Given the description of an element on the screen output the (x, y) to click on. 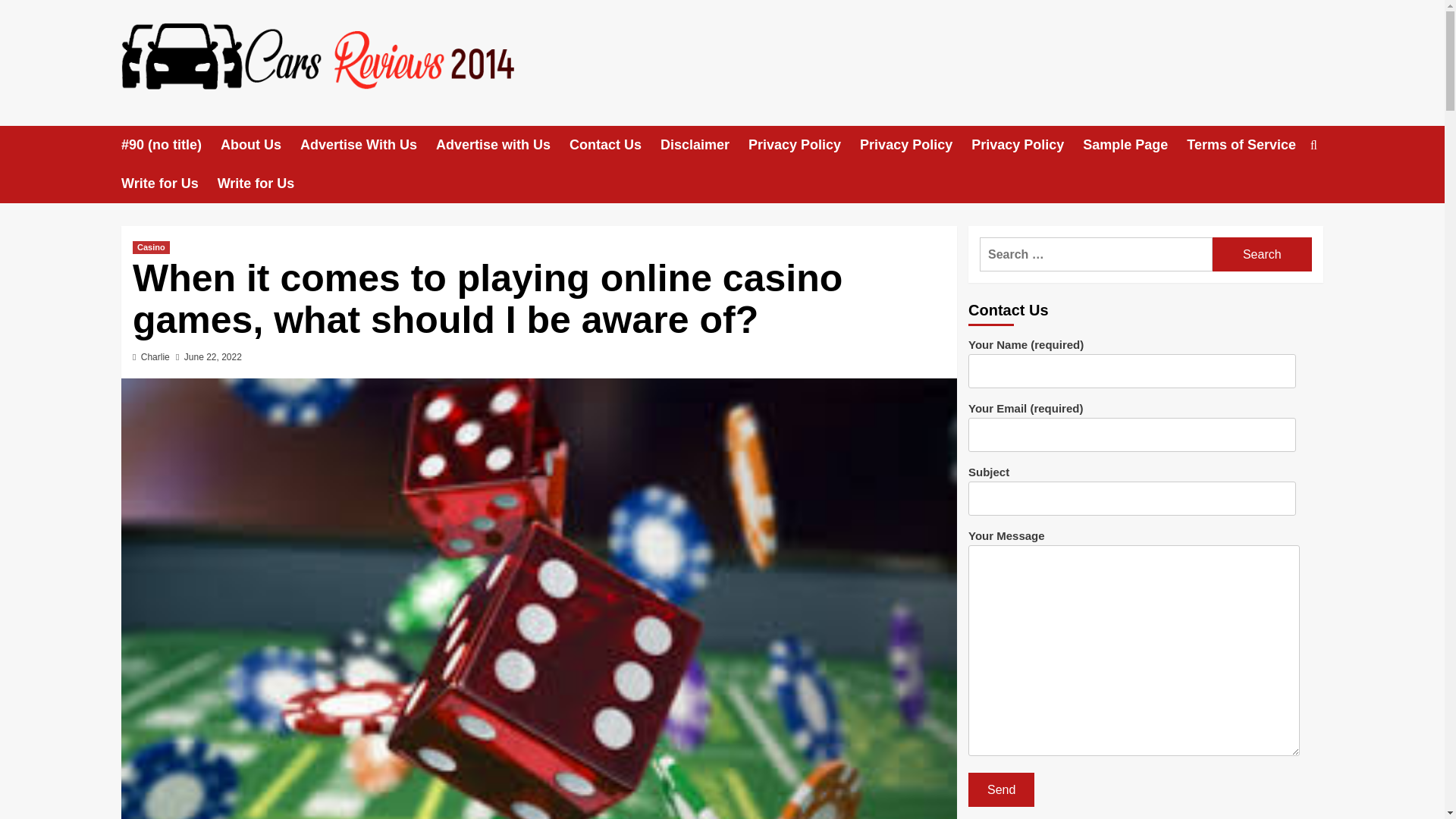
Write for Us (265, 183)
Contact Us (615, 145)
Charlie (155, 357)
About Us (260, 145)
Privacy Policy (804, 145)
Search (1278, 192)
Write for Us (168, 183)
Search (1261, 254)
Send (1000, 789)
Disclaimer (704, 145)
